Given the description of an element on the screen output the (x, y) to click on. 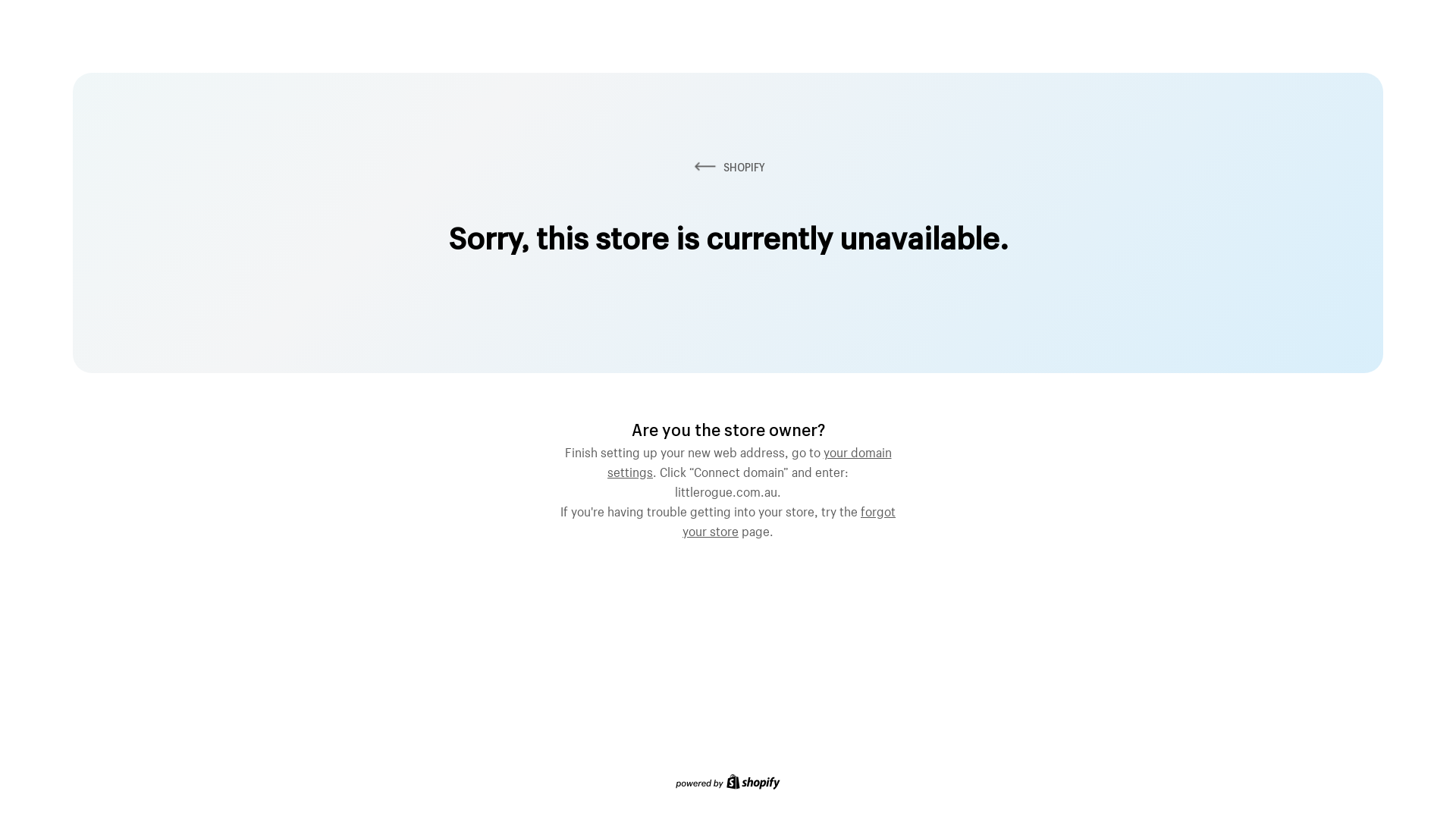
SHOPIFY Element type: text (727, 167)
forgot your store Element type: text (788, 519)
your domain settings Element type: text (749, 460)
